Given the description of an element on the screen output the (x, y) to click on. 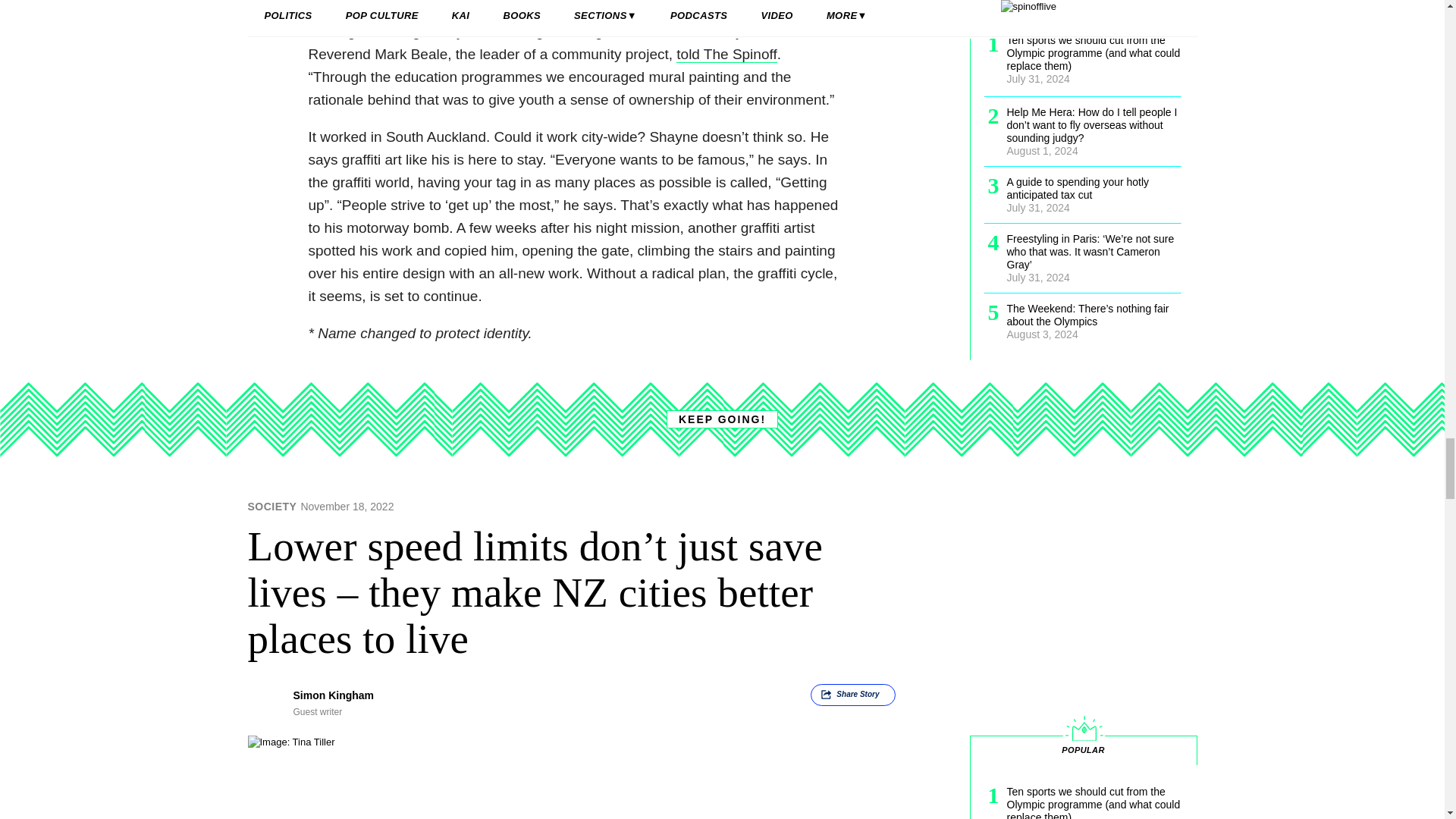
view all posts by Simon Kingham (333, 695)
KEEP GOING! (721, 419)
